Given the description of an element on the screen output the (x, y) to click on. 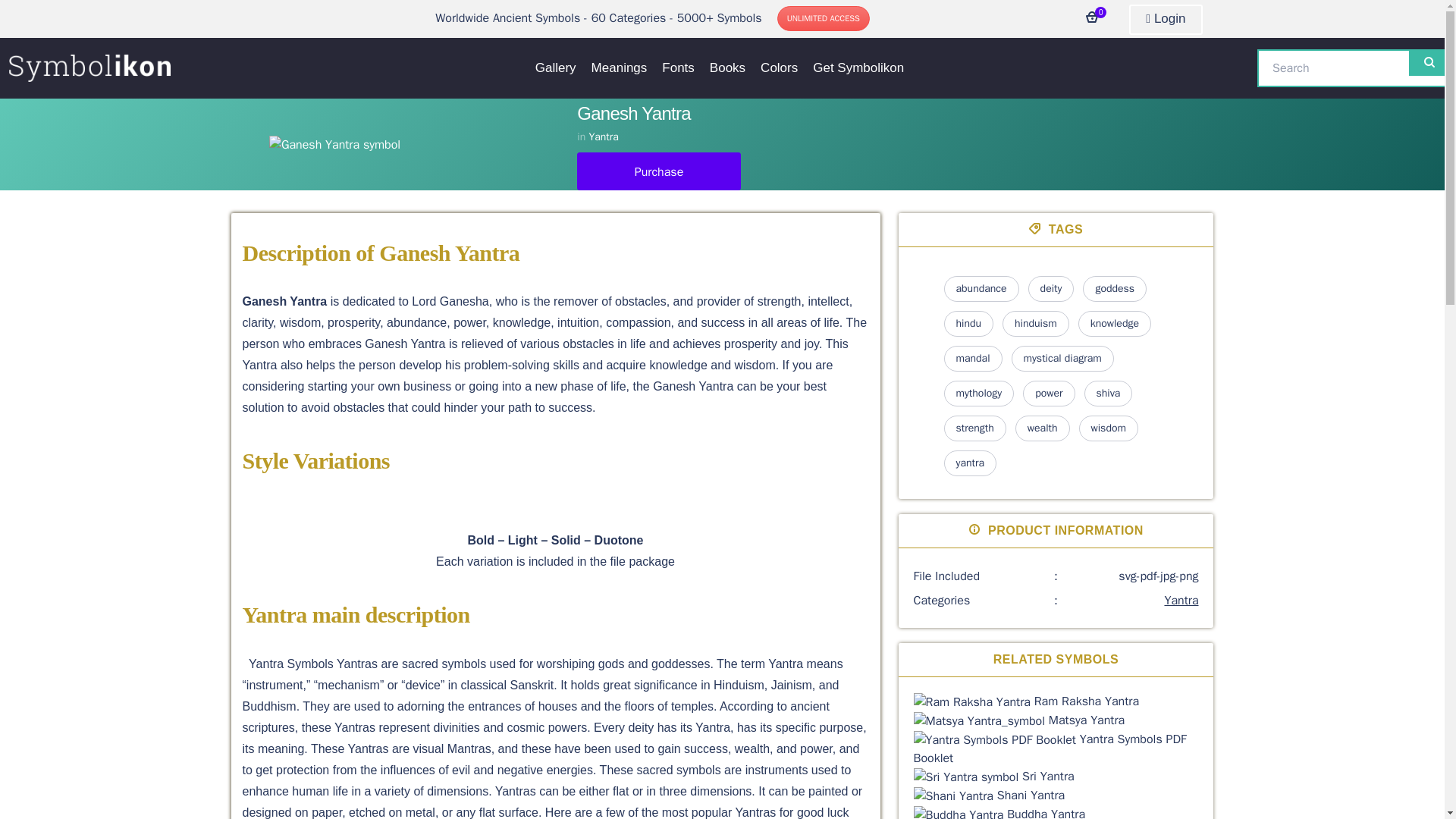
Get Symbolikon (858, 67)
Login (1165, 19)
Ram Raksha Yantra (1085, 701)
Yantra (602, 136)
Purchase (657, 171)
Matsya Yantra (980, 720)
Ganesh Yantra symbol Yantra (414, 144)
UNLIMITED ACCESS (823, 18)
Gallery (555, 67)
Yantra Symbols PDF Booklet (995, 739)
